Given the description of an element on the screen output the (x, y) to click on. 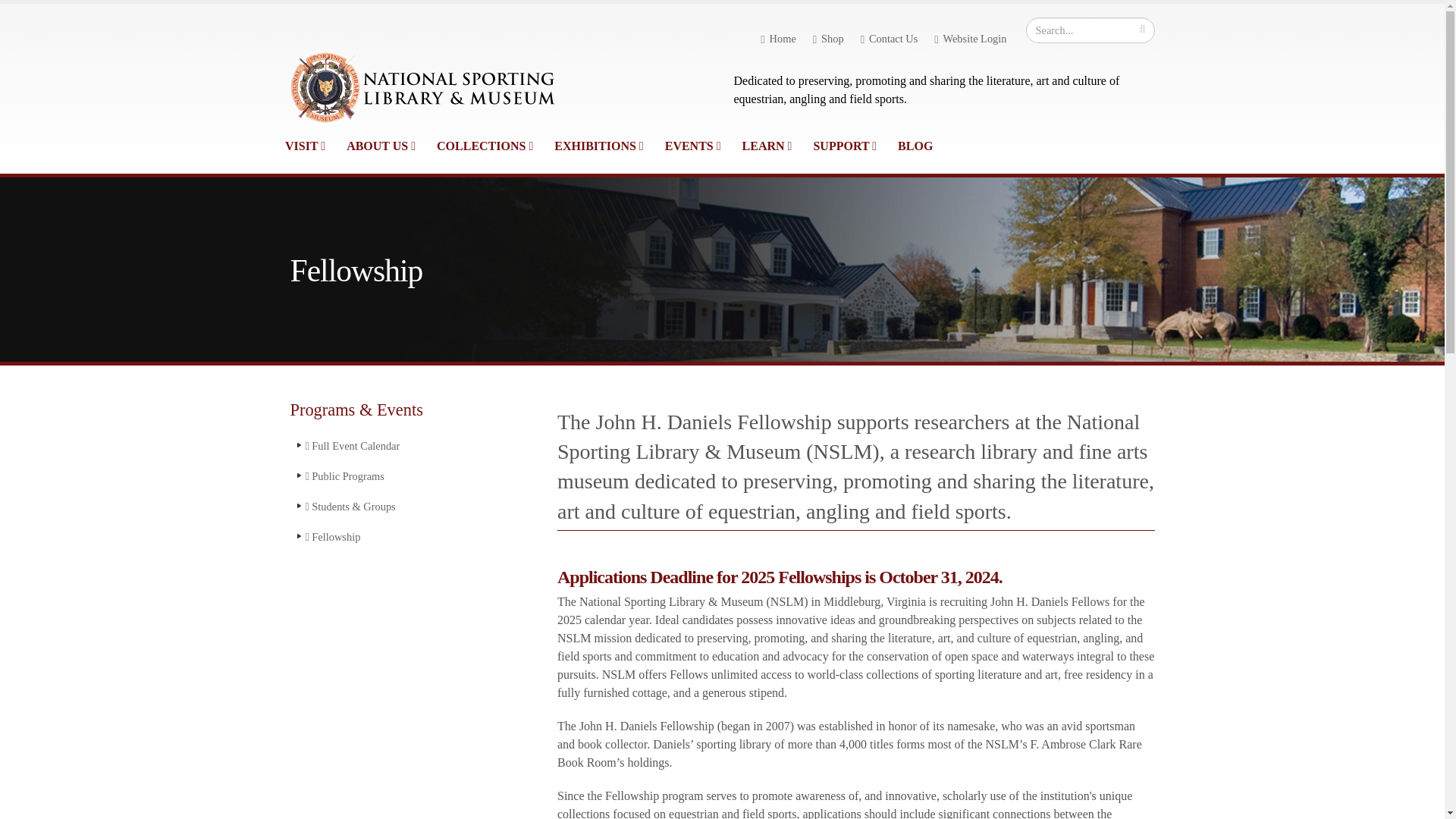
EVENTS (692, 146)
LEARN (767, 146)
Website Login (969, 38)
Shop (828, 38)
Contact Us (889, 38)
ABOUT US (380, 146)
COLLECTIONS (484, 146)
EXHIBITIONS (598, 146)
VISIT (304, 146)
Home (777, 38)
